Given the description of an element on the screen output the (x, y) to click on. 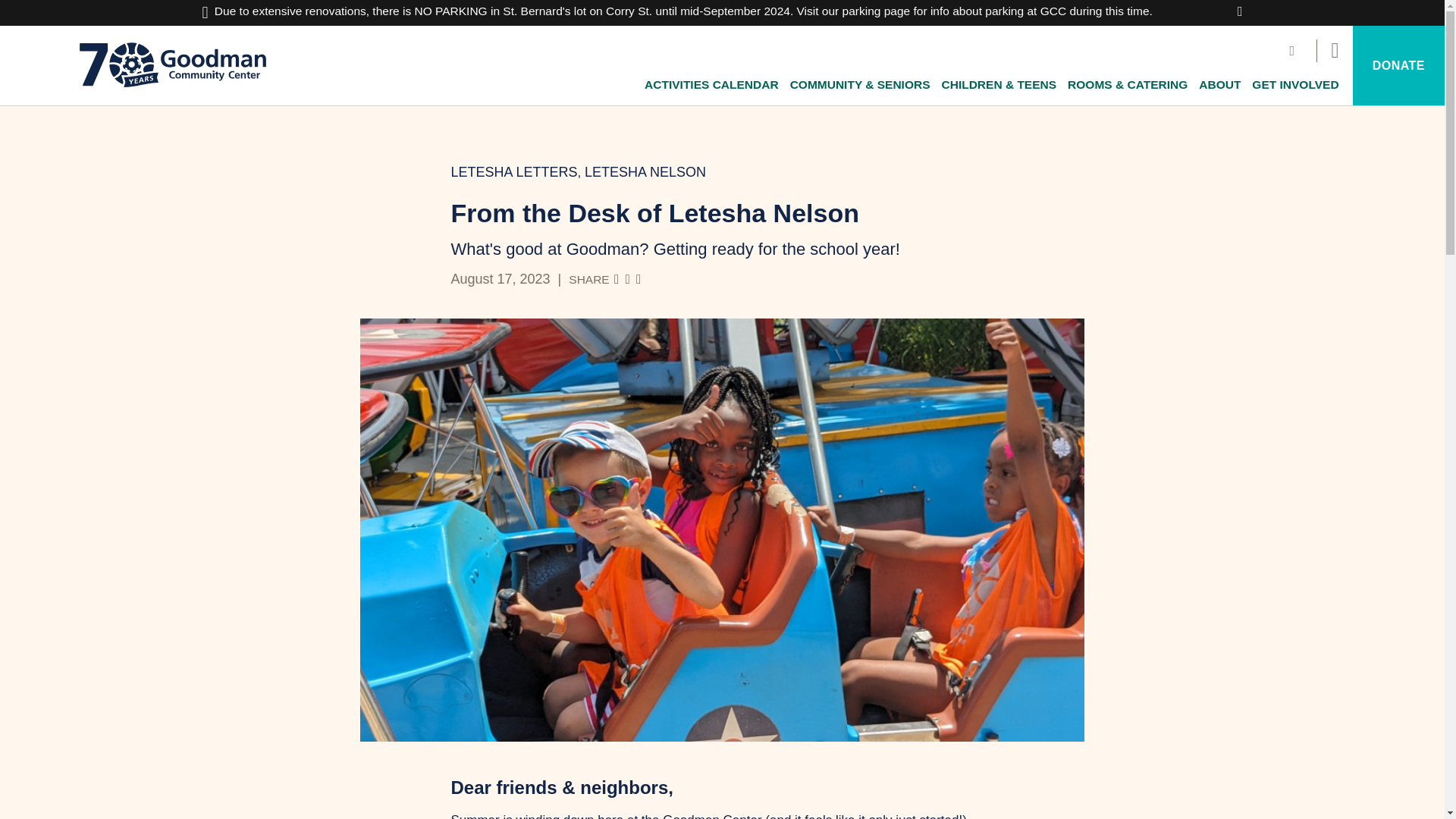
ABOUT (1219, 84)
ACTIVITIES CALENDAR (711, 84)
GET INVOLVED (1295, 84)
